Given the description of an element on the screen output the (x, y) to click on. 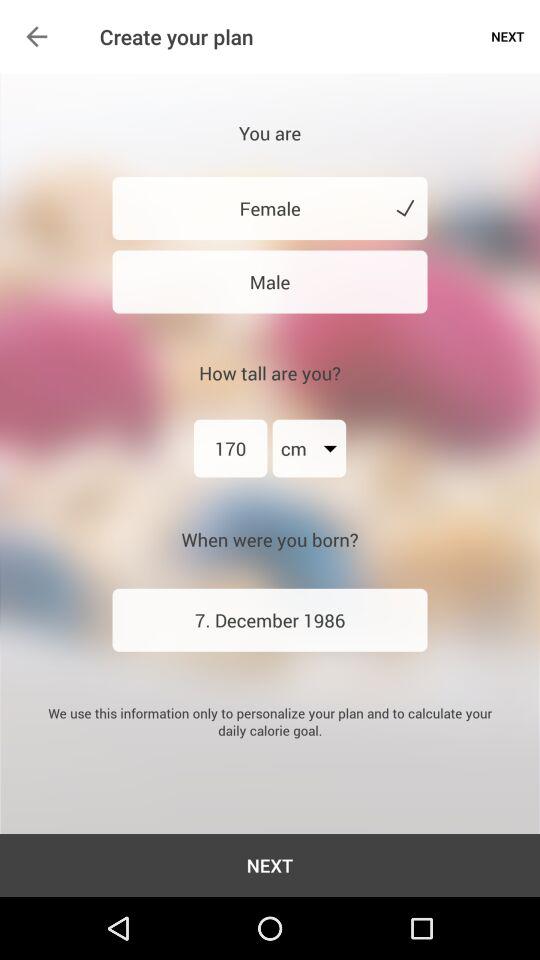
scroll until 170 item (230, 448)
